Given the description of an element on the screen output the (x, y) to click on. 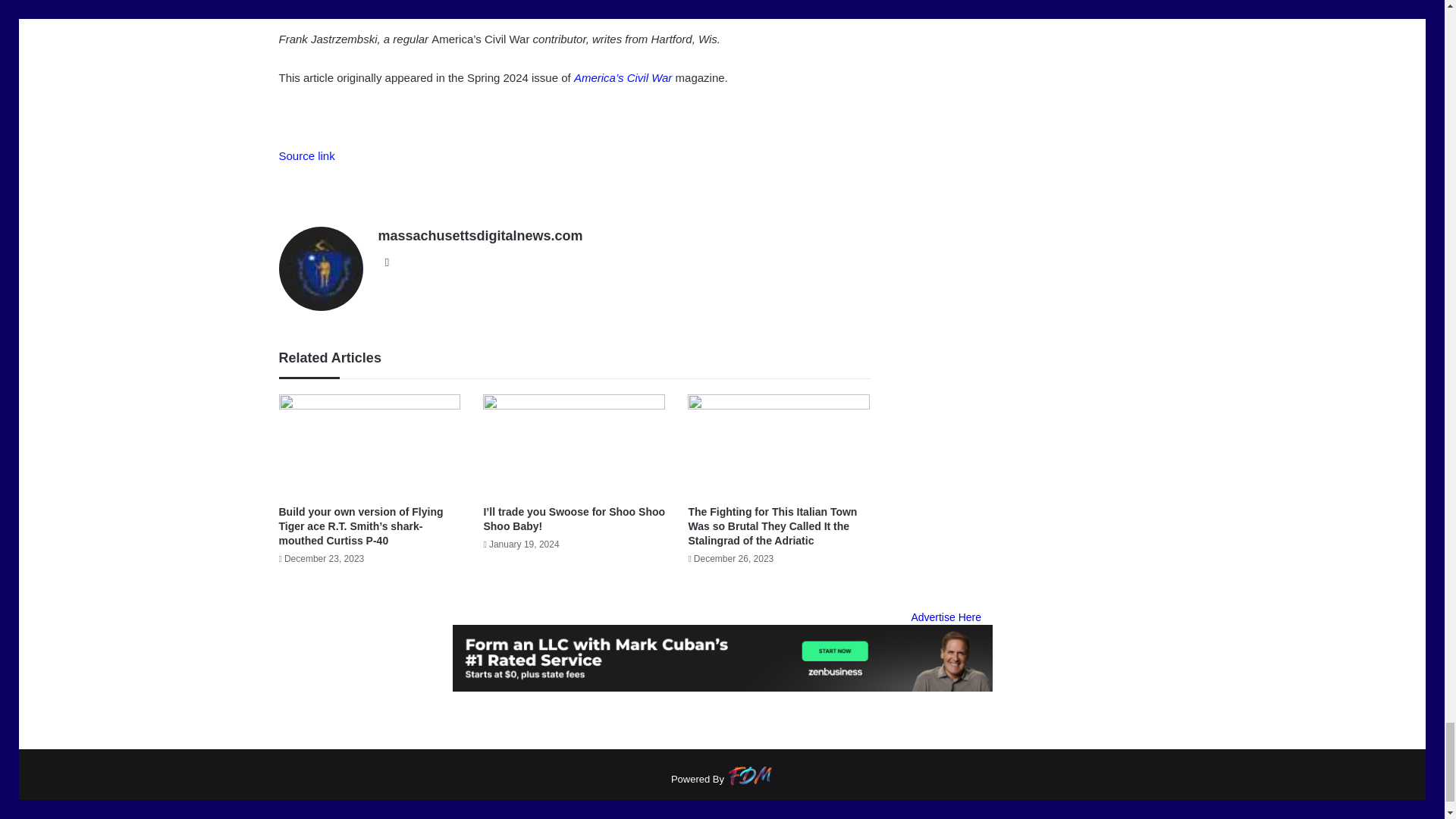
Website (386, 262)
Source link (306, 155)
massachusettsdigitalnews.com (479, 235)
